Given the description of an element on the screen output the (x, y) to click on. 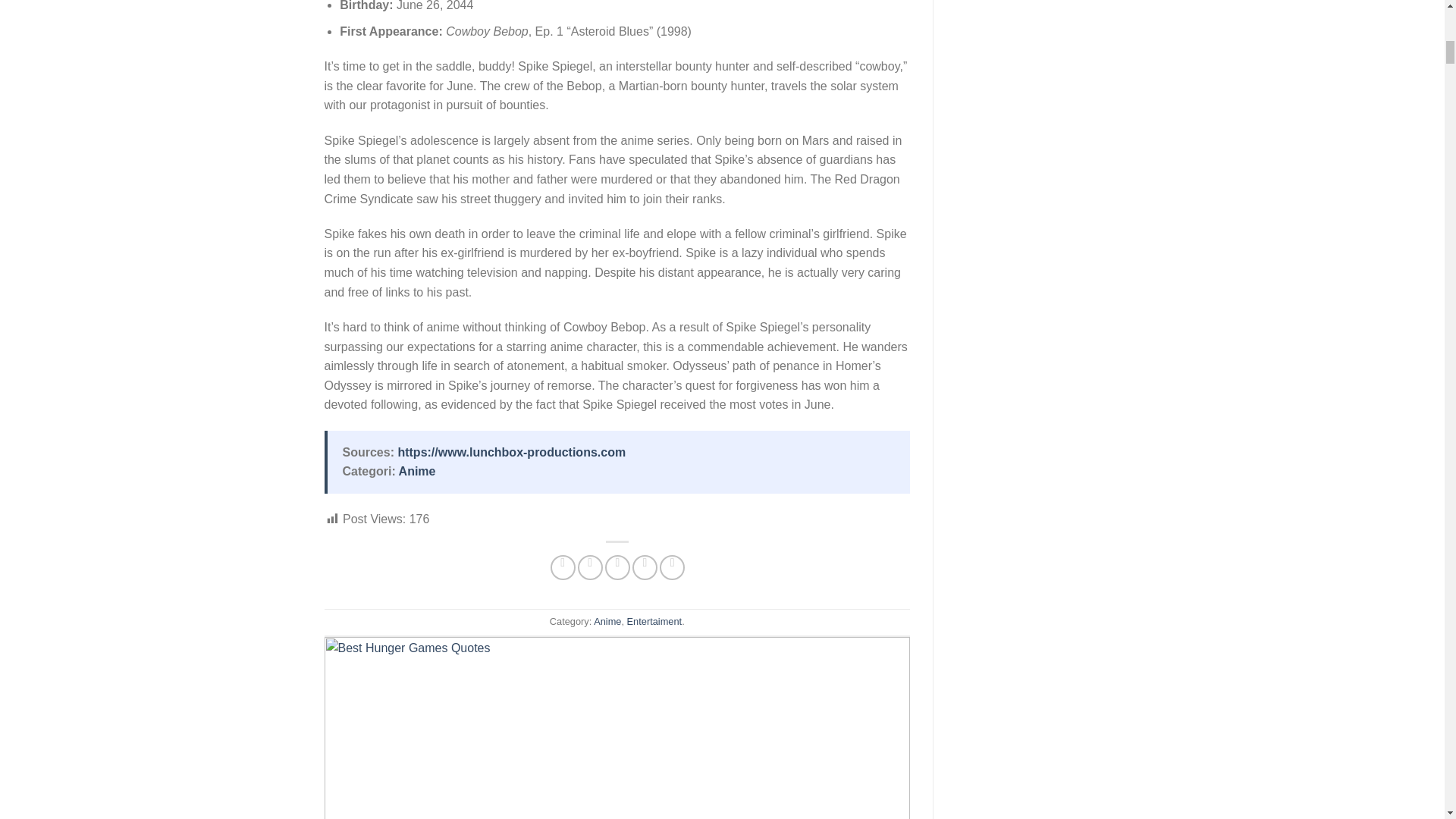
Anime (416, 471)
Entertaiment (654, 621)
Anime (607, 621)
